Given the description of an element on the screen output the (x, y) to click on. 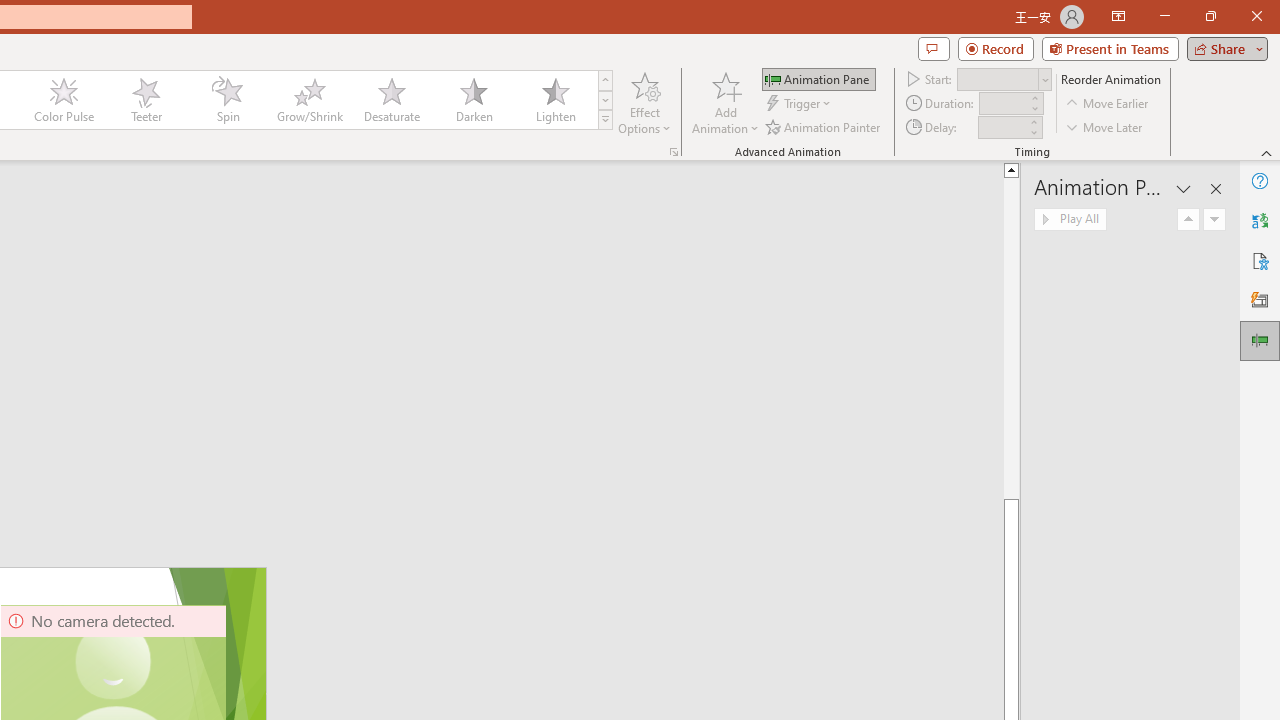
Animation Pane (1260, 340)
Play All (1070, 219)
Move Later (1105, 126)
Animation Painter (824, 126)
Darken (473, 100)
Spin (227, 100)
Lighten (555, 100)
Teeter (145, 100)
Move Down (1214, 219)
